Given the description of an element on the screen output the (x, y) to click on. 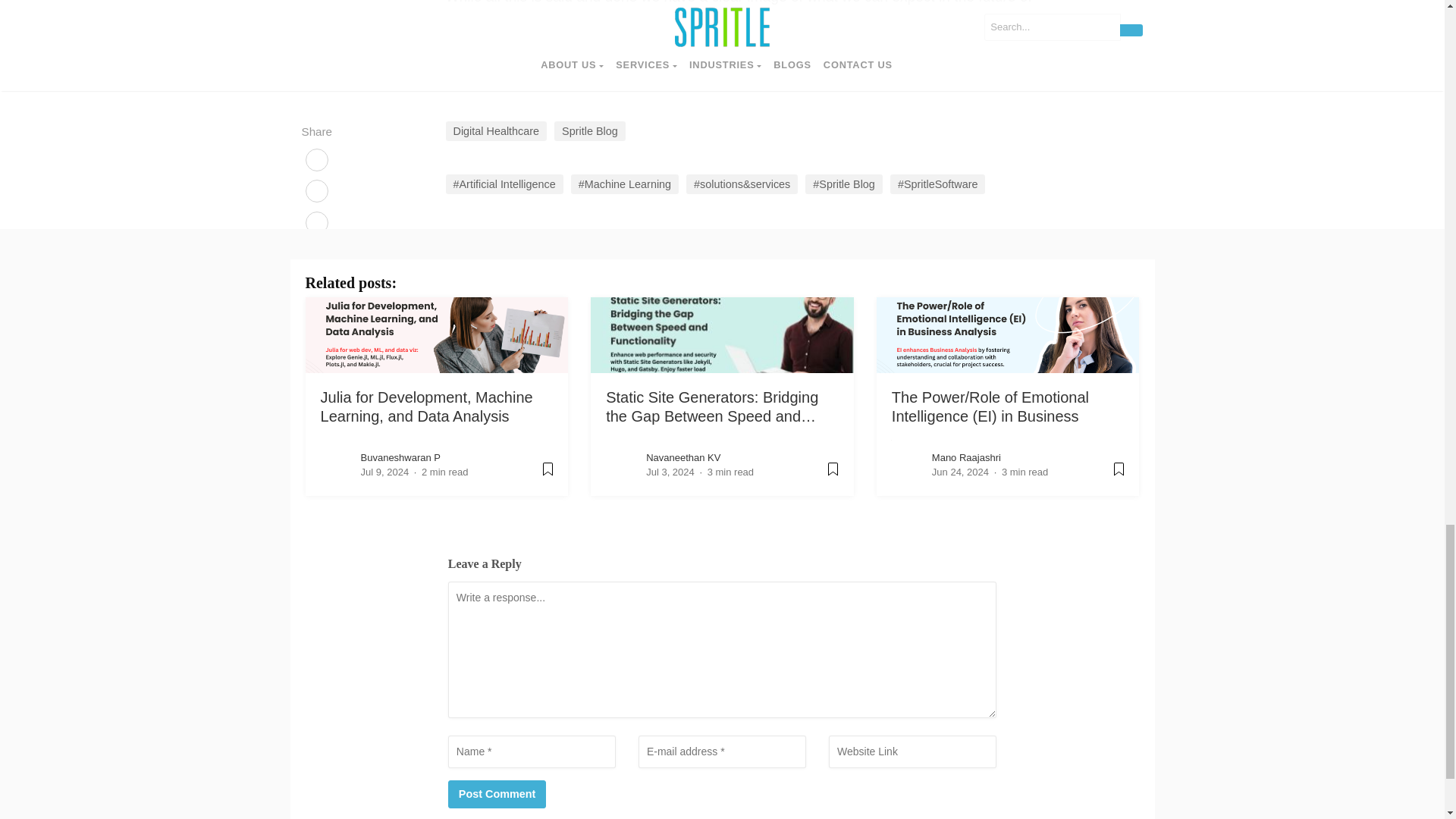
Digital Healthcare (496, 130)
Spritle Blog (590, 130)
Post Comment (497, 794)
